Given the description of an element on the screen output the (x, y) to click on. 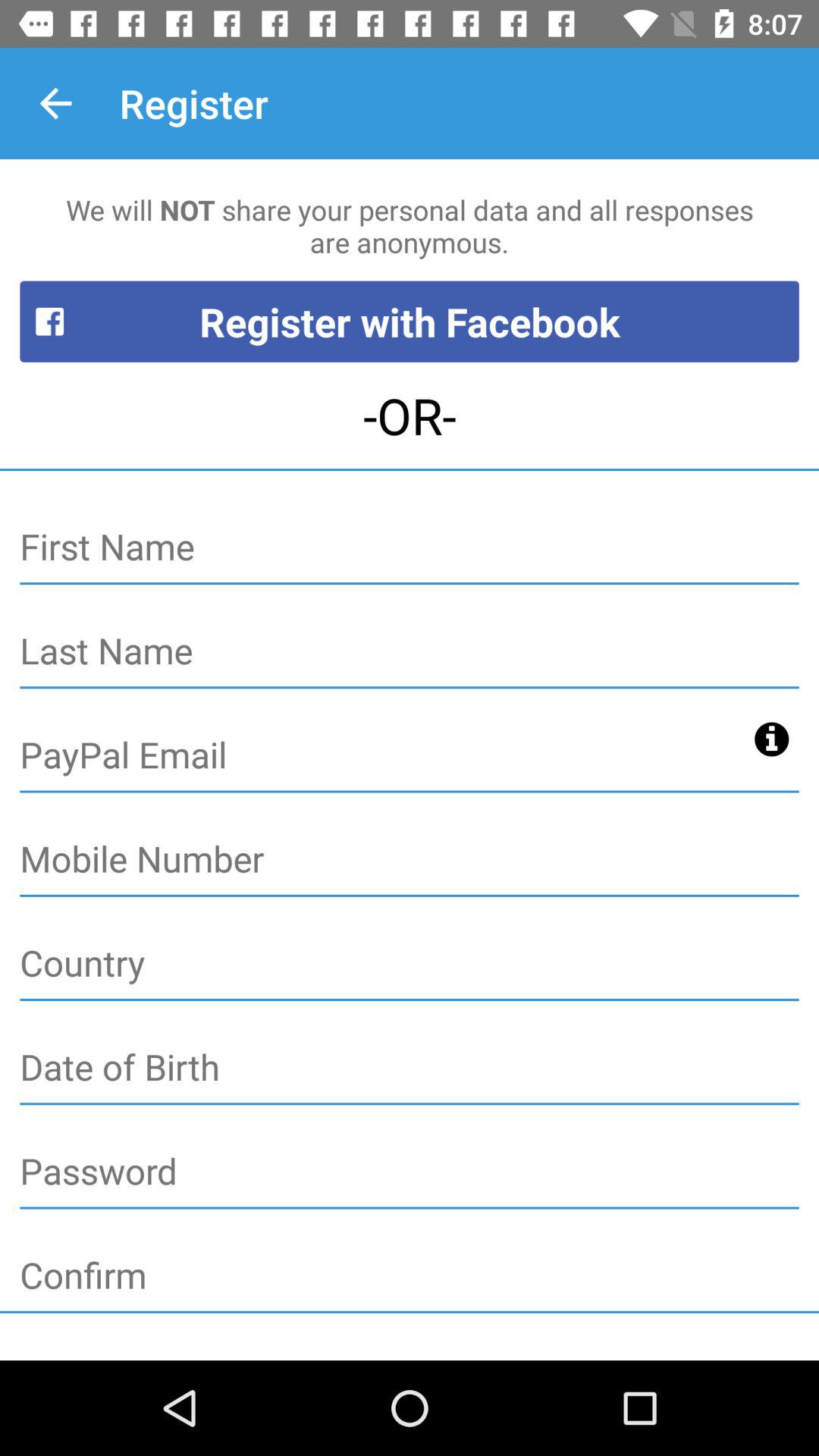
it enter the country name (409, 964)
